Given the description of an element on the screen output the (x, y) to click on. 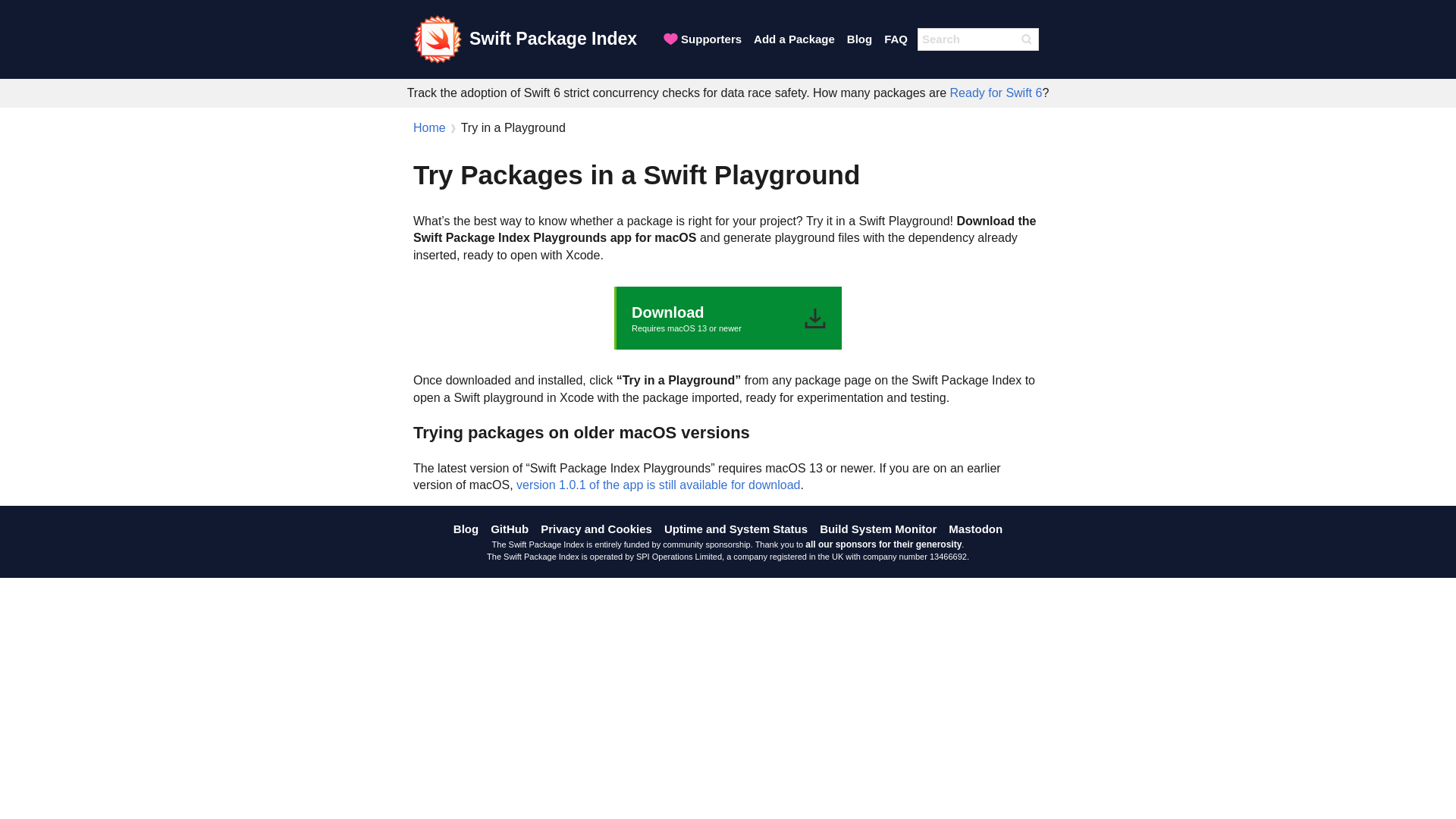
Home (429, 127)
Privacy and Cookies (727, 317)
Supporters (595, 528)
Ready for Swift 6 (701, 38)
Blog (996, 92)
Blog (859, 38)
Add a Package (465, 528)
GitHub (794, 38)
all our sponsors for their generosity (509, 528)
Uptime and System Status (882, 543)
Mastodon (735, 528)
FAQ (975, 528)
Swift Package Index (896, 38)
version 1.0.1 of the app is still available for download (525, 39)
